Given the description of an element on the screen output the (x, y) to click on. 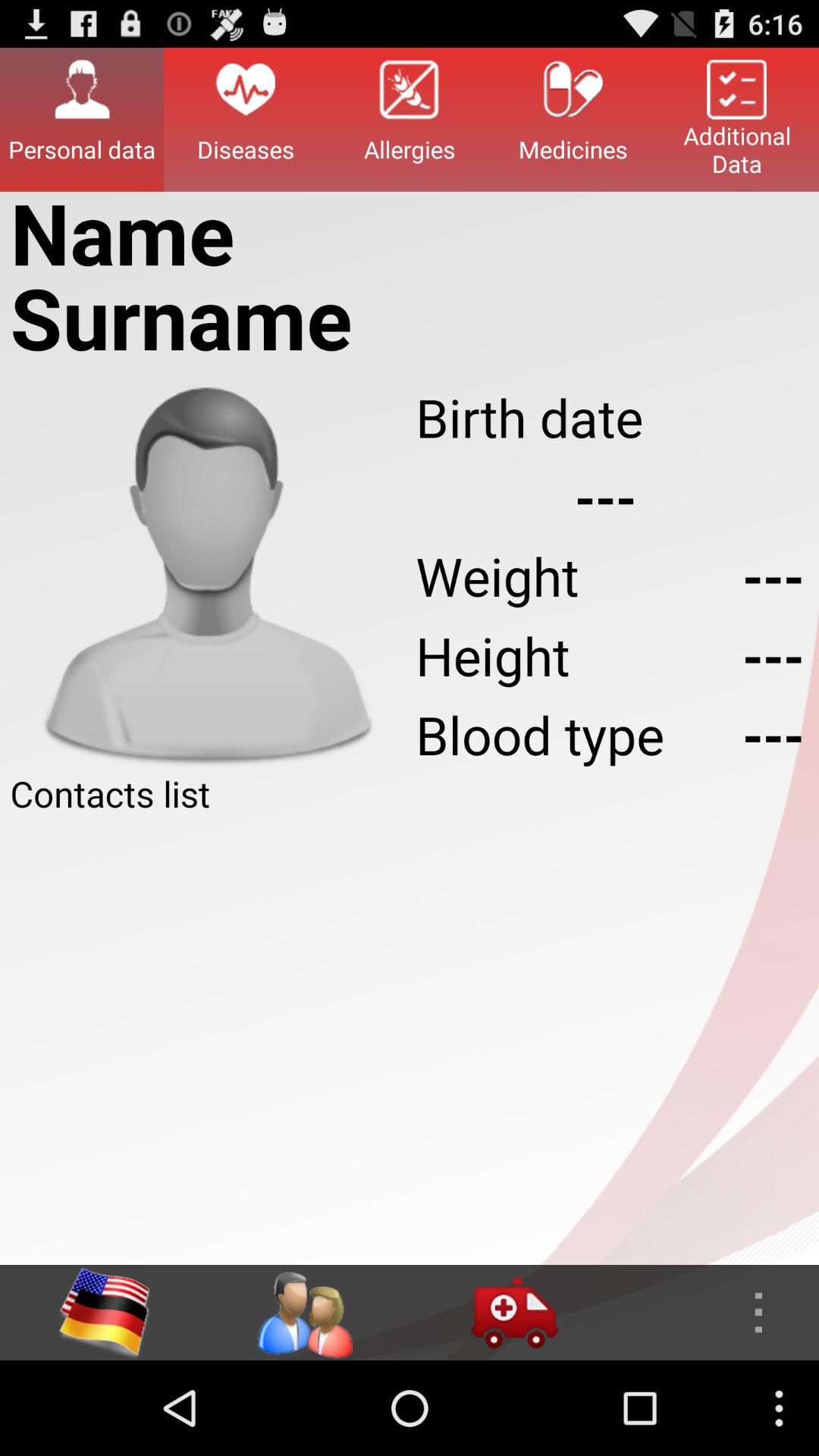
ambulance information (514, 1312)
